Given the description of an element on the screen output the (x, y) to click on. 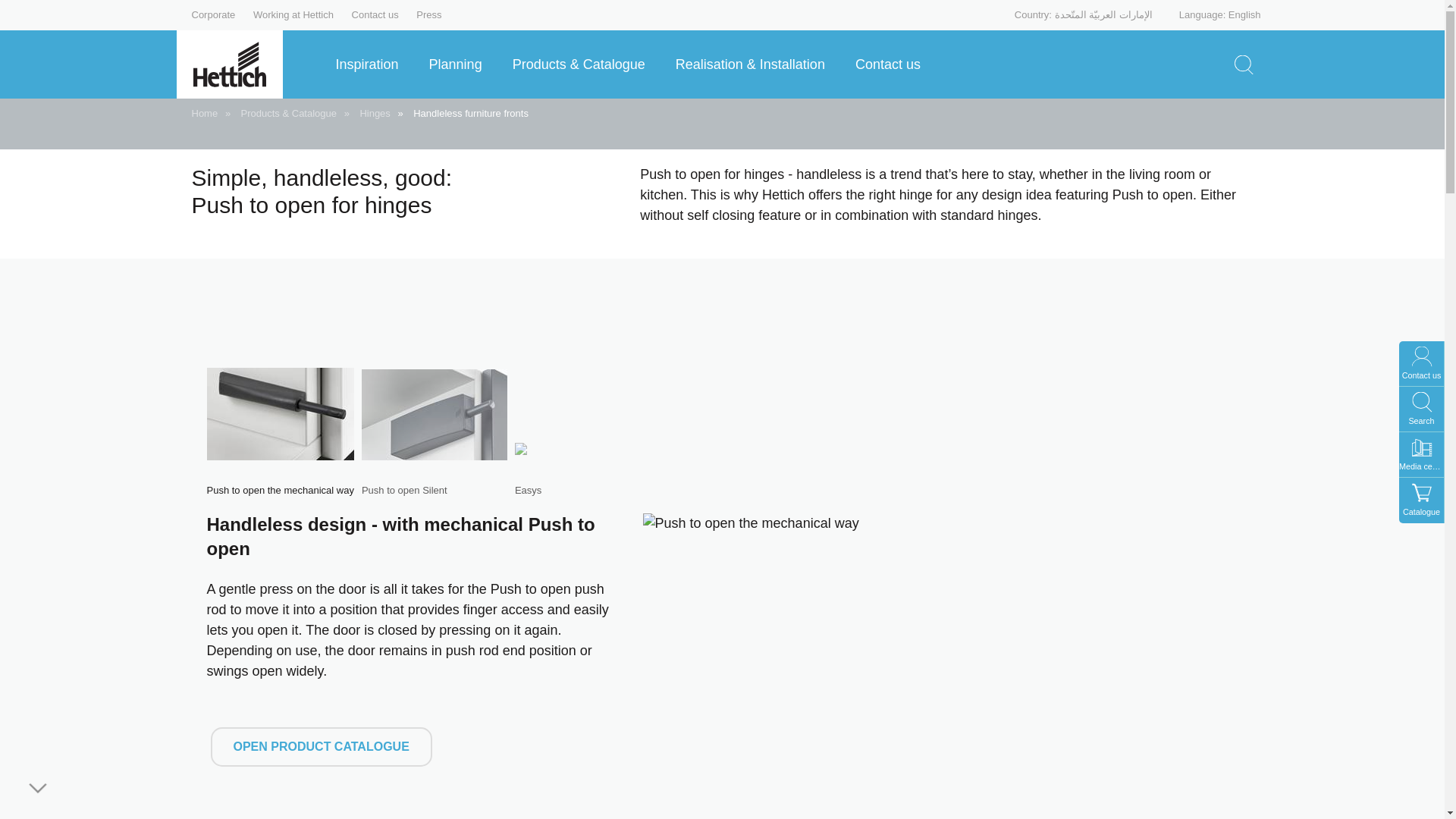
Planning (461, 64)
Contact us (375, 14)
Corporate (212, 14)
Inspiration (371, 64)
Press (428, 14)
Working at Hettich (293, 14)
